Given the description of an element on the screen output the (x, y) to click on. 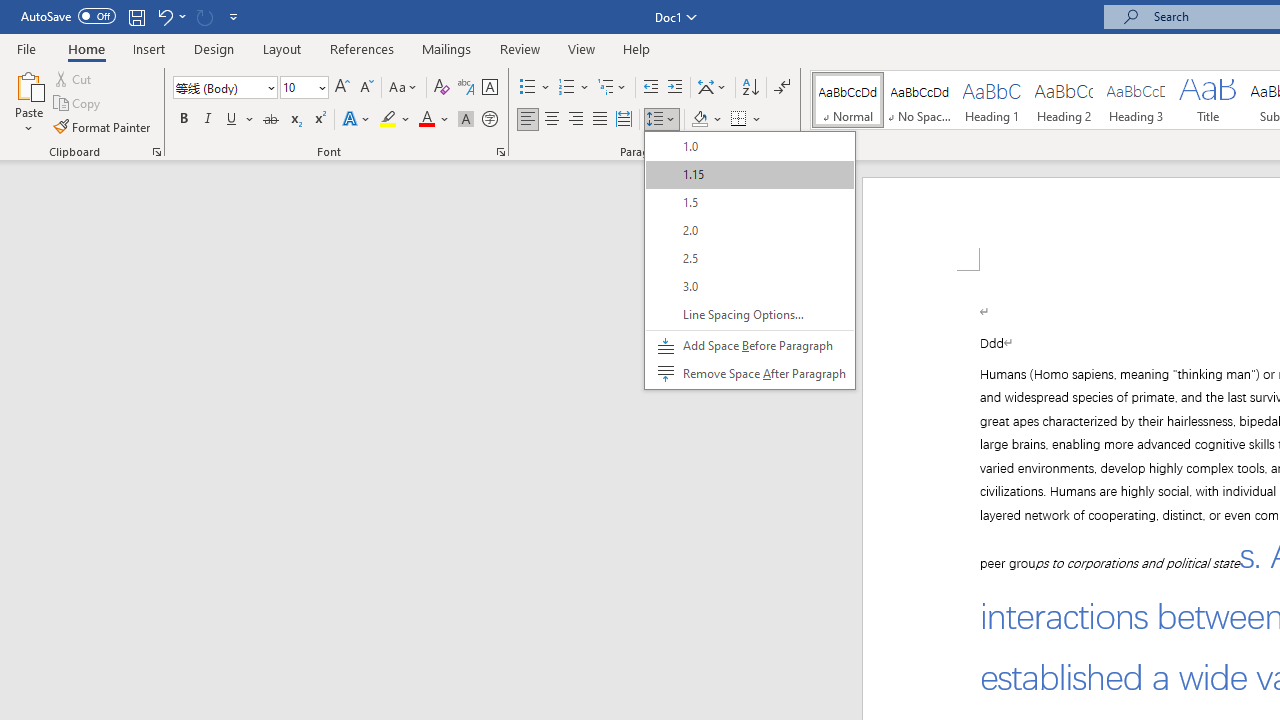
Bold (183, 119)
Enclose Characters... (489, 119)
Multilevel List (613, 87)
Distributed (623, 119)
